Given the description of an element on the screen output the (x, y) to click on. 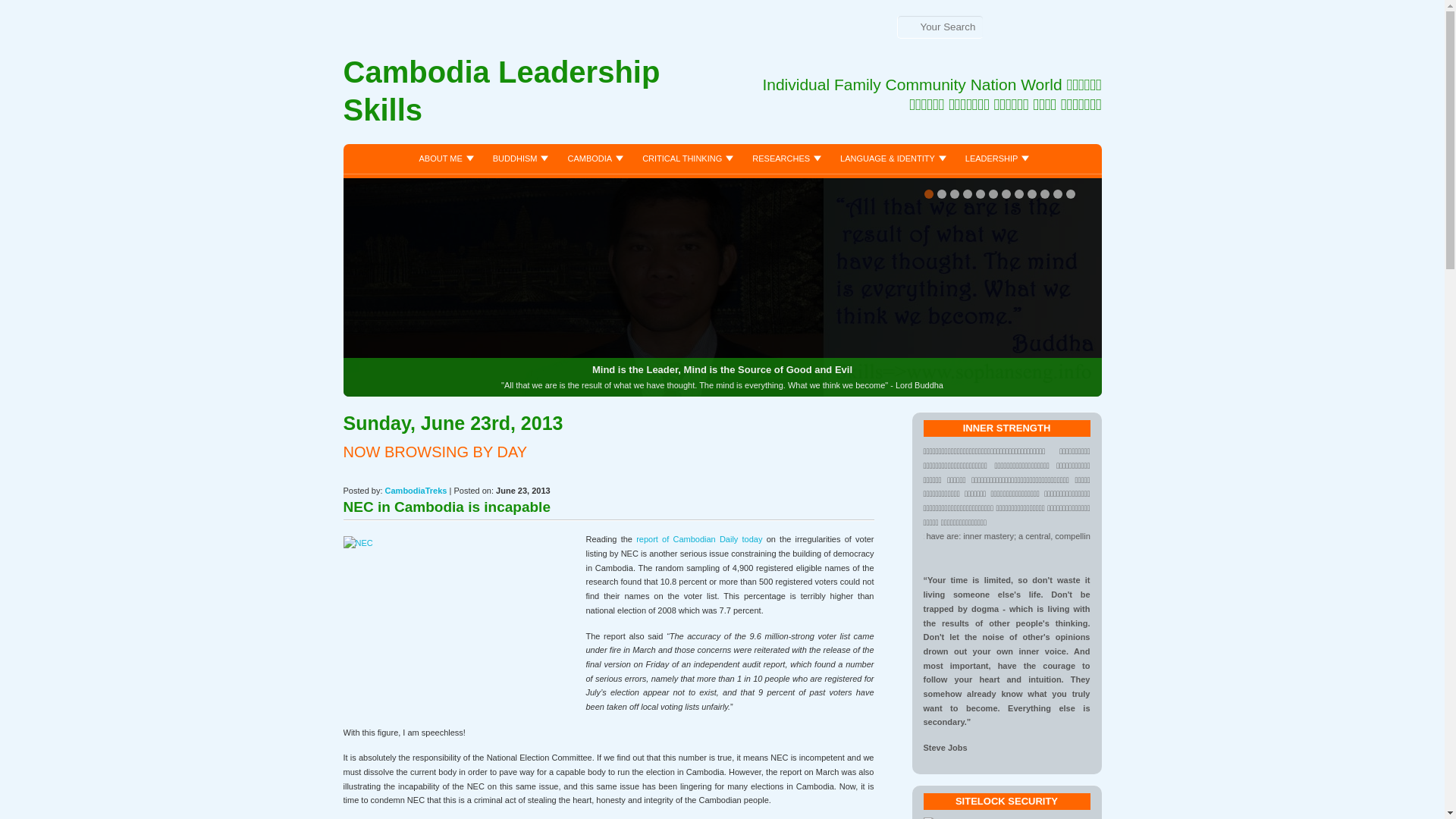
Cambodia Leadership Skills (532, 94)
CRITICAL THINKING (685, 158)
Posts by CambodiaTreks (415, 490)
SiteLock (960, 818)
ABOUT ME (444, 158)
Search (29, 13)
CAMBODIA (593, 158)
BUDDHISM (518, 158)
